Given the description of an element on the screen output the (x, y) to click on. 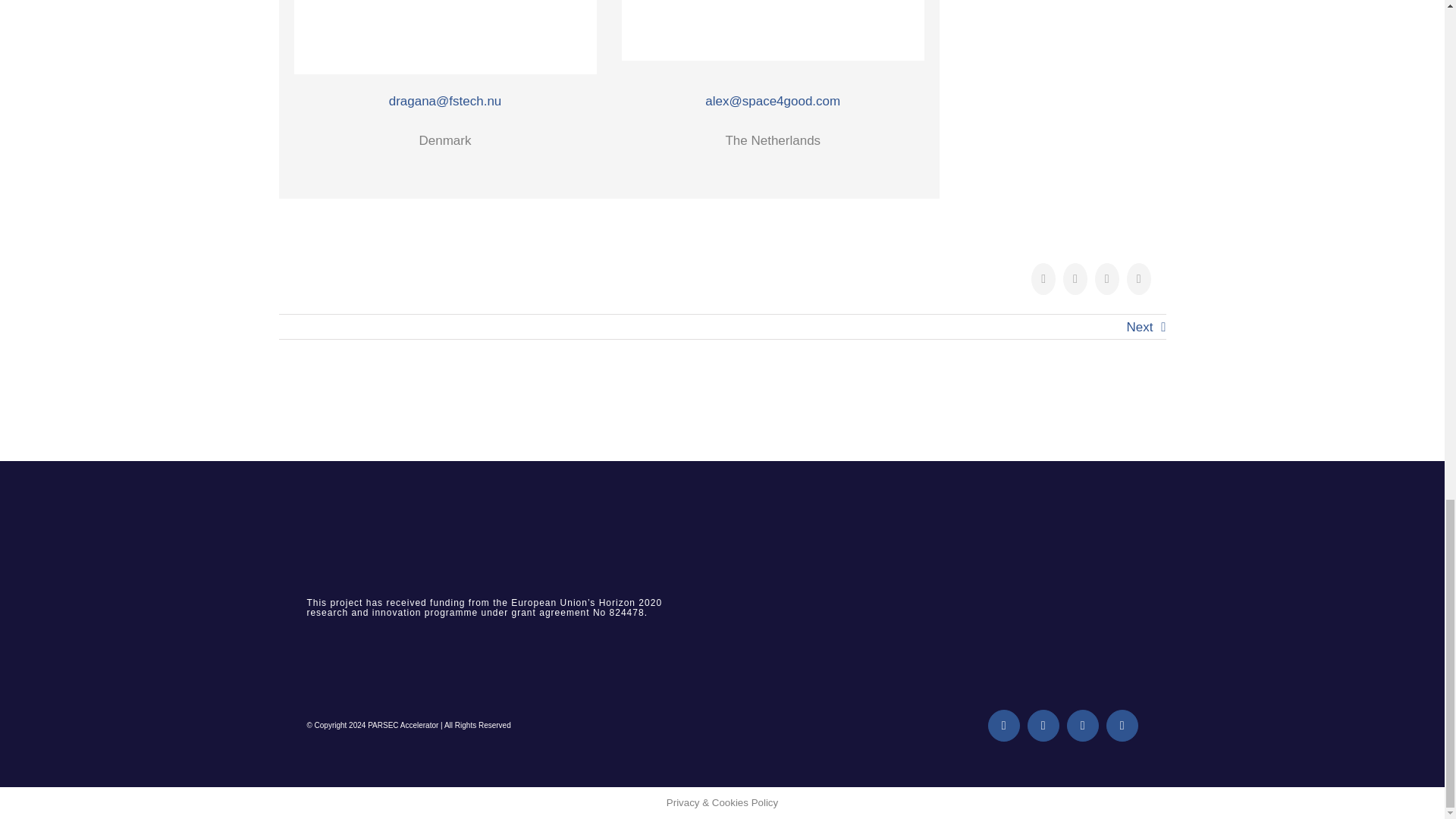
Twitter (1043, 726)
YouTube (1122, 726)
LinkedIn (1083, 726)
Facebook (1004, 726)
LinkedIn (1083, 726)
Twitter (1043, 726)
Facebook (1004, 726)
Next (1139, 327)
YouTube (1122, 726)
